Given the description of an element on the screen output the (x, y) to click on. 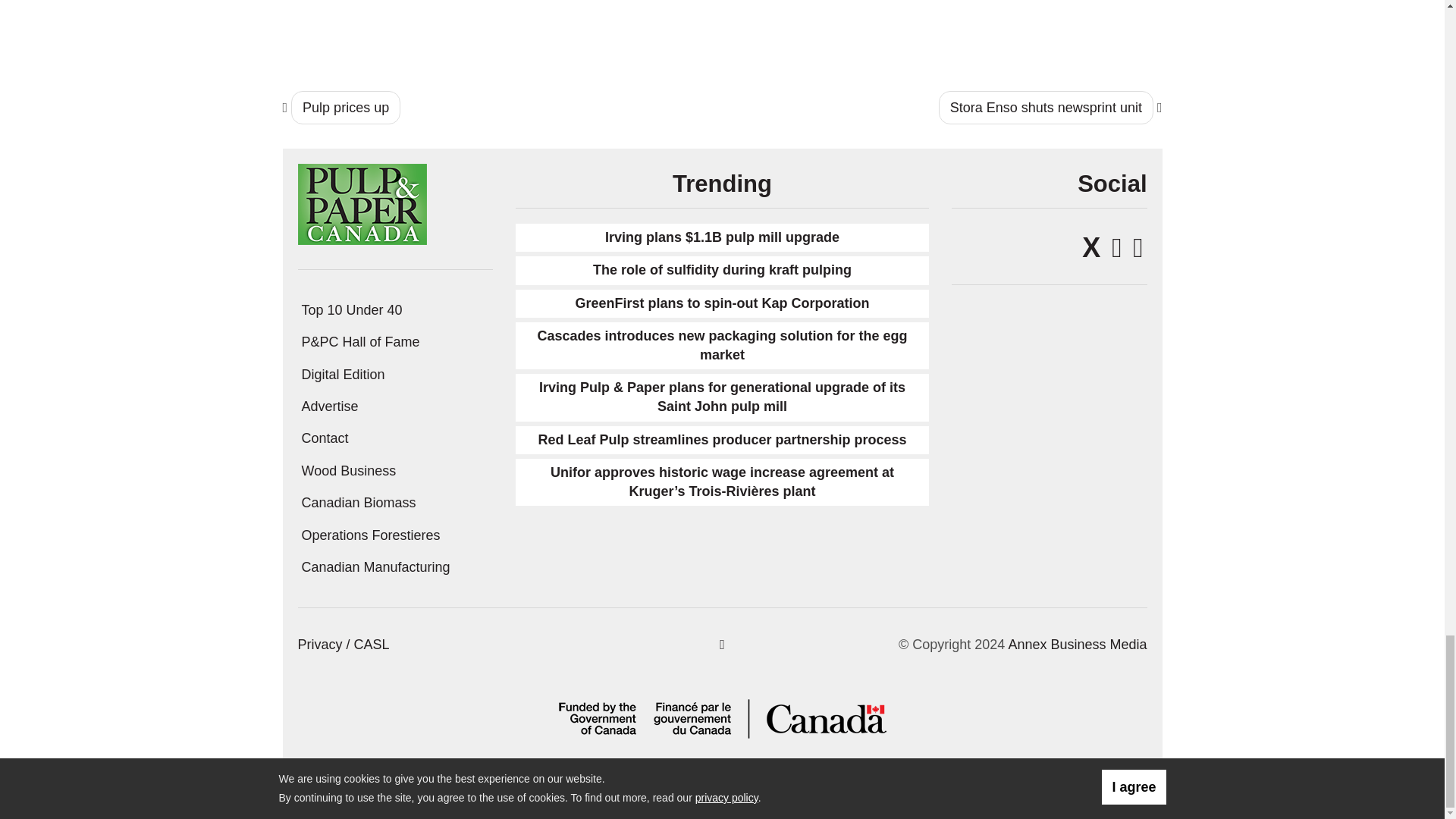
Pulp and Paper Canada (361, 202)
Annex Business Media (1077, 644)
